Given the description of an element on the screen output the (x, y) to click on. 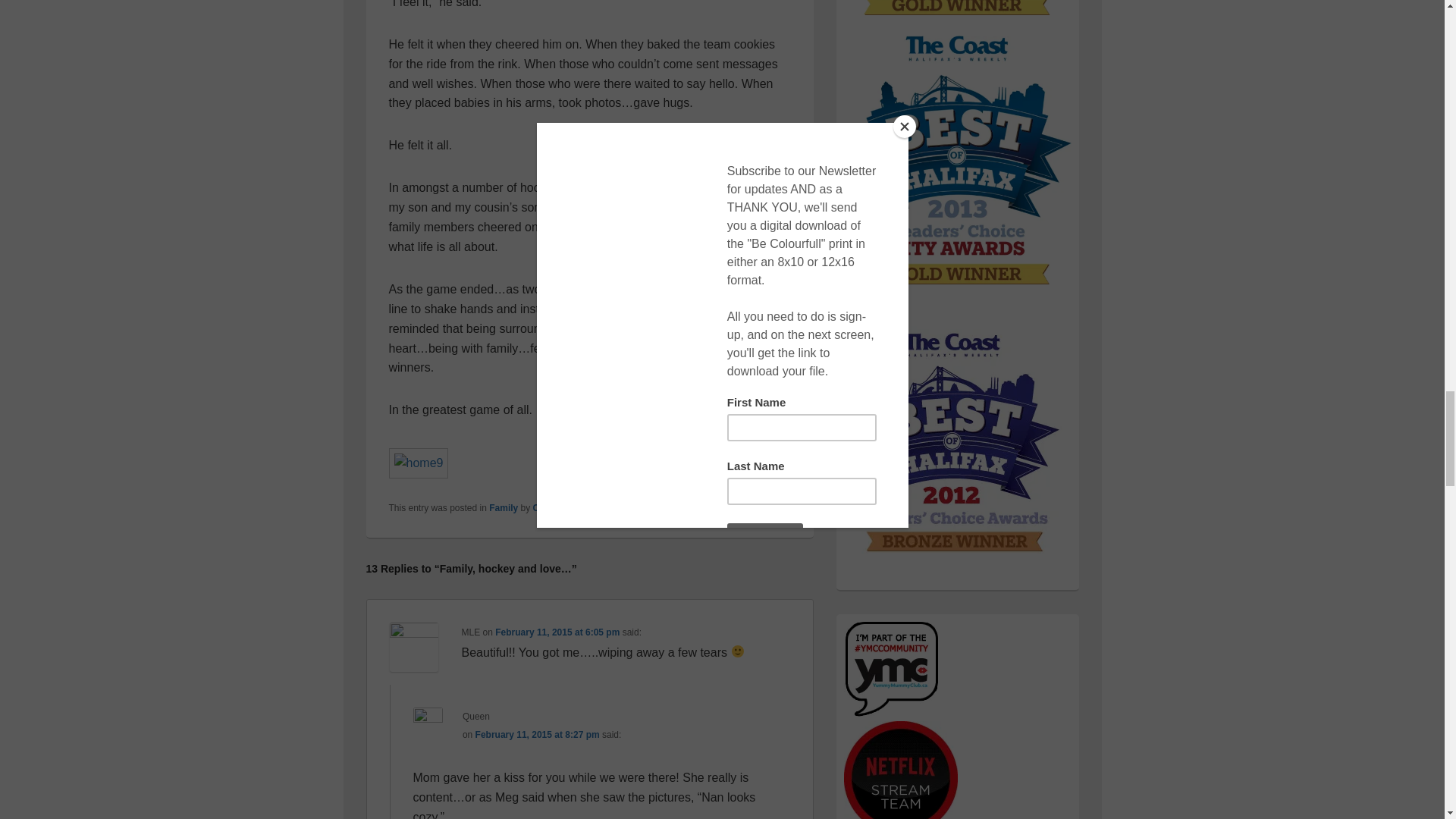
permalink (677, 507)
February 11, 2015 at 6:05 pm (557, 632)
February 11, 2015 at 8:27 pm (537, 734)
Family (503, 507)
Colleen ODea (562, 507)
